Given the description of an element on the screen output the (x, y) to click on. 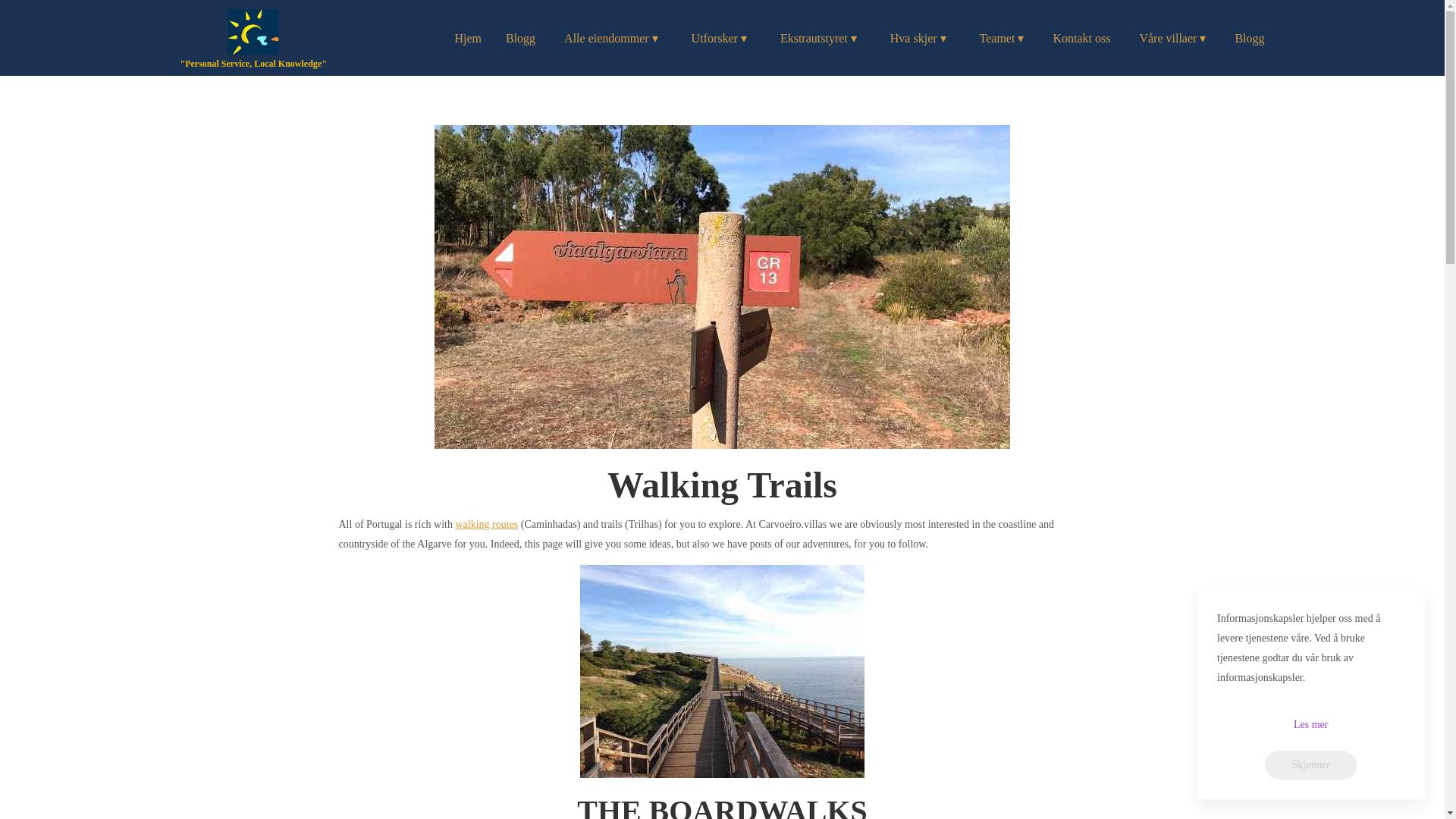
Image Title (253, 31)
Kontakt oss (1080, 39)
Blogg (520, 39)
Blogg (1248, 39)
walking routes (486, 523)
Hjem (467, 39)
"Personal Service, Local Knowledge" (253, 63)
Les mer (1310, 724)
"Personal Service, Local Knowledge" (253, 40)
